Given the description of an element on the screen output the (x, y) to click on. 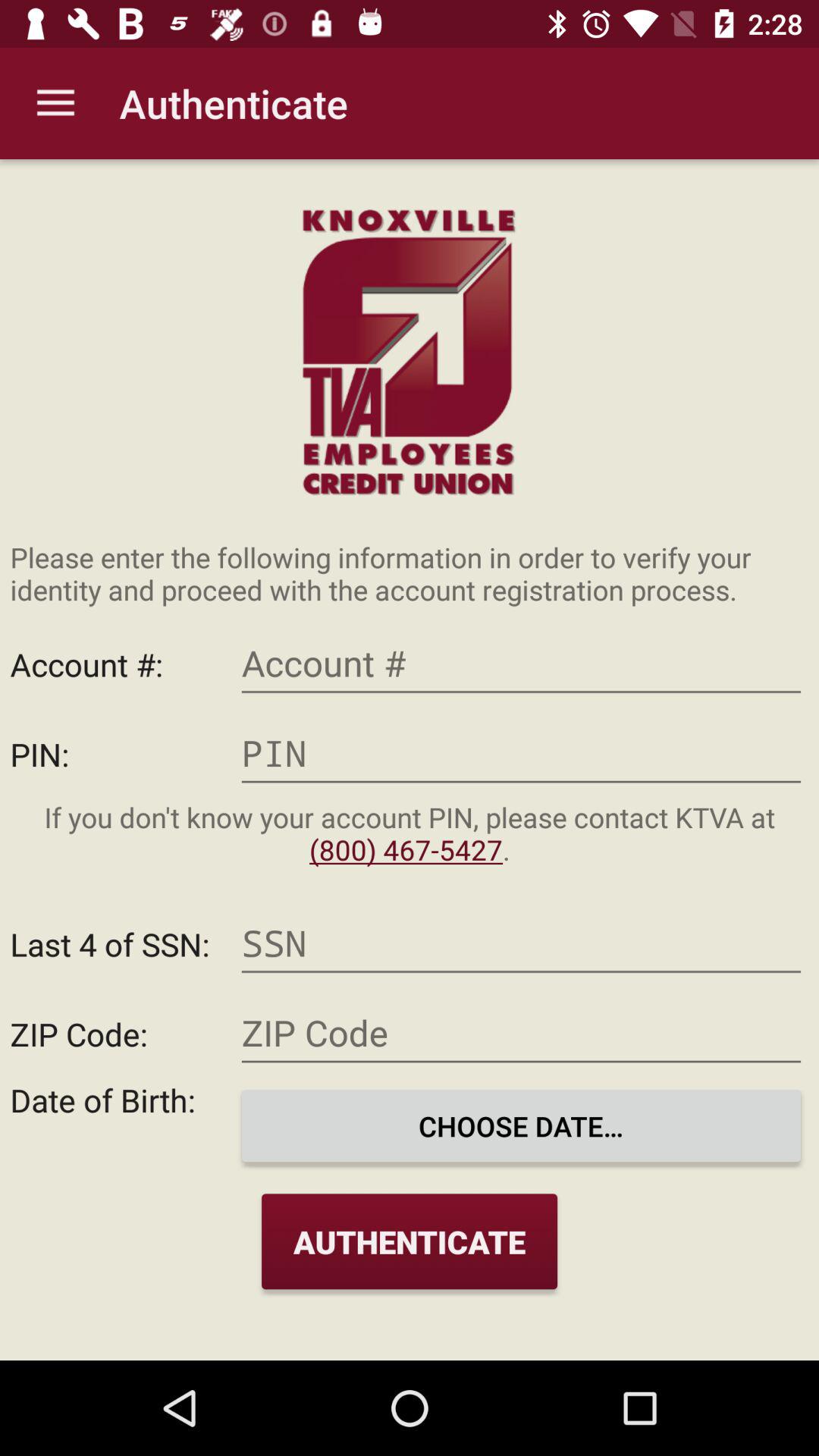
go back (520, 753)
